Given the description of an element on the screen output the (x, y) to click on. 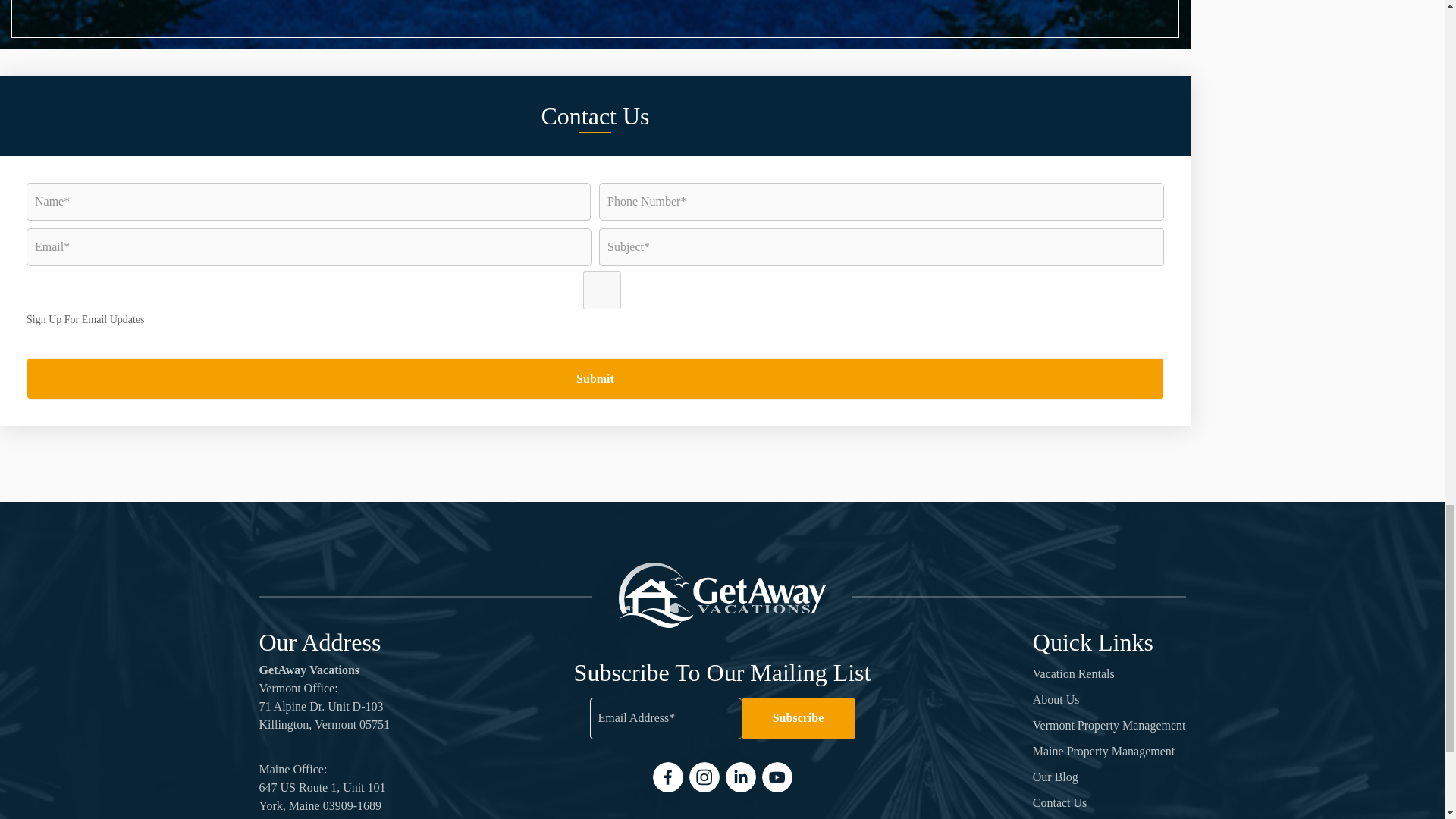
Killington, VT Vacation Rentals by GetAway Vacations Logo (721, 594)
Sign Up For Email Updates (601, 290)
Submit (594, 378)
Subscribe (798, 718)
